Given the description of an element on the screen output the (x, y) to click on. 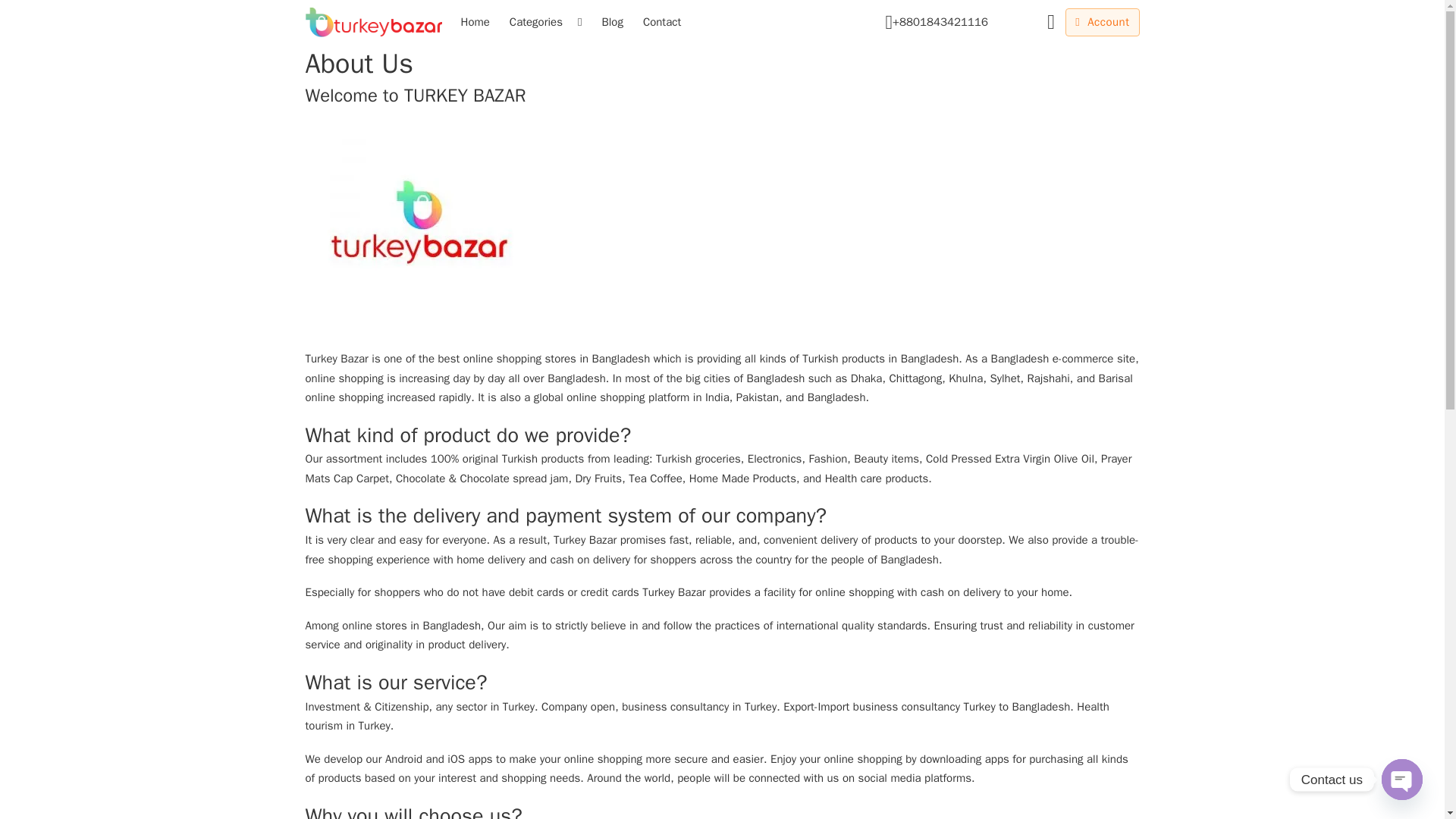
Turkish groceries (698, 459)
Health care (853, 478)
Turkey Bazar (336, 358)
Blog (612, 22)
Prayer Mats Cap Carpet (717, 468)
Home (474, 22)
Contact (661, 22)
Account (1101, 22)
Fashion (827, 459)
Home Made Products (742, 478)
Dry Fruits (598, 478)
Cold Pressed Extra Virgin Olive Oil (1010, 459)
Tea Coffee (655, 478)
TURKEY BAZAR (464, 95)
Beauty items (885, 459)
